Given the description of an element on the screen output the (x, y) to click on. 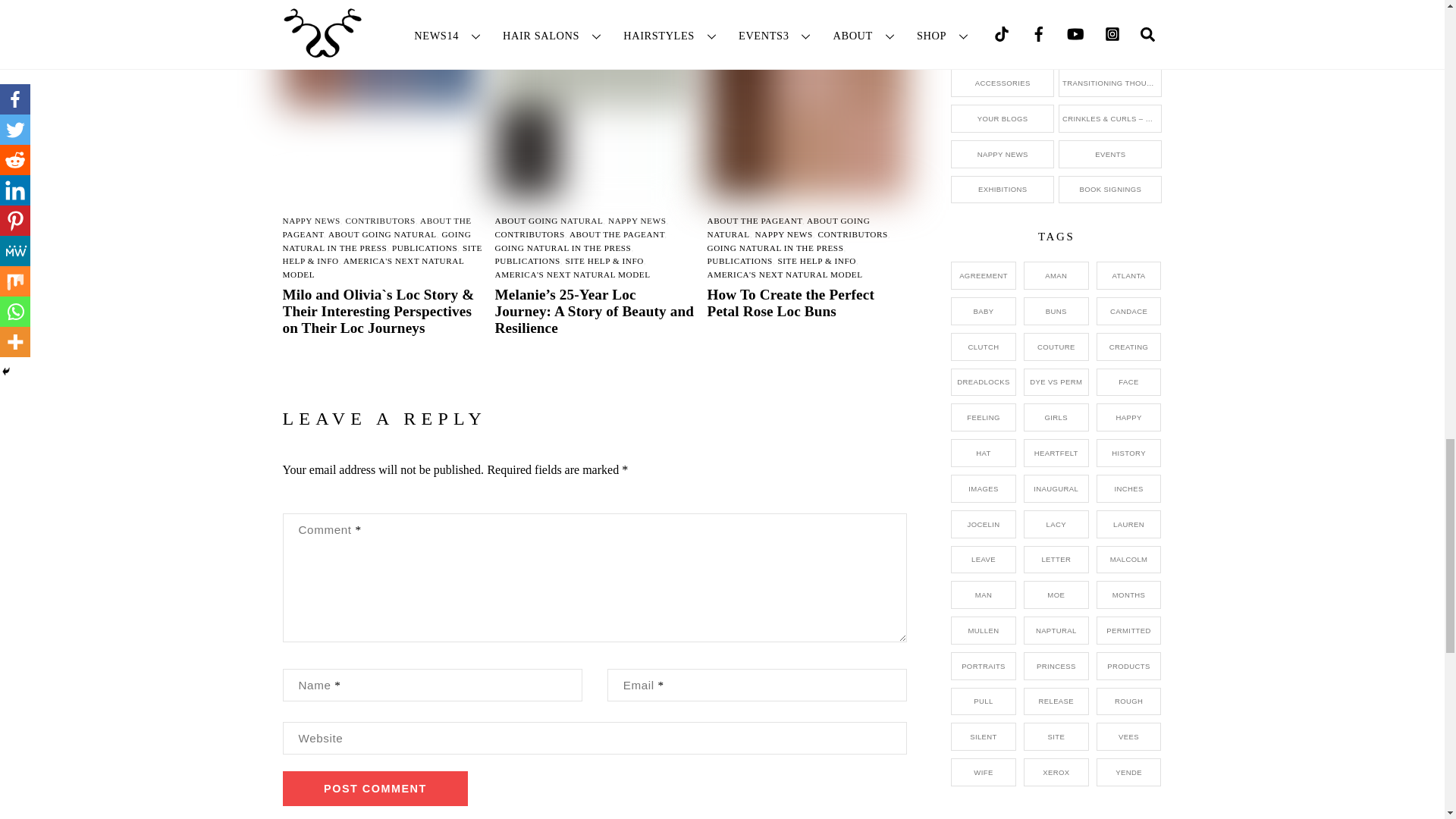
Post Comment (374, 788)
